Given the description of an element on the screen output the (x, y) to click on. 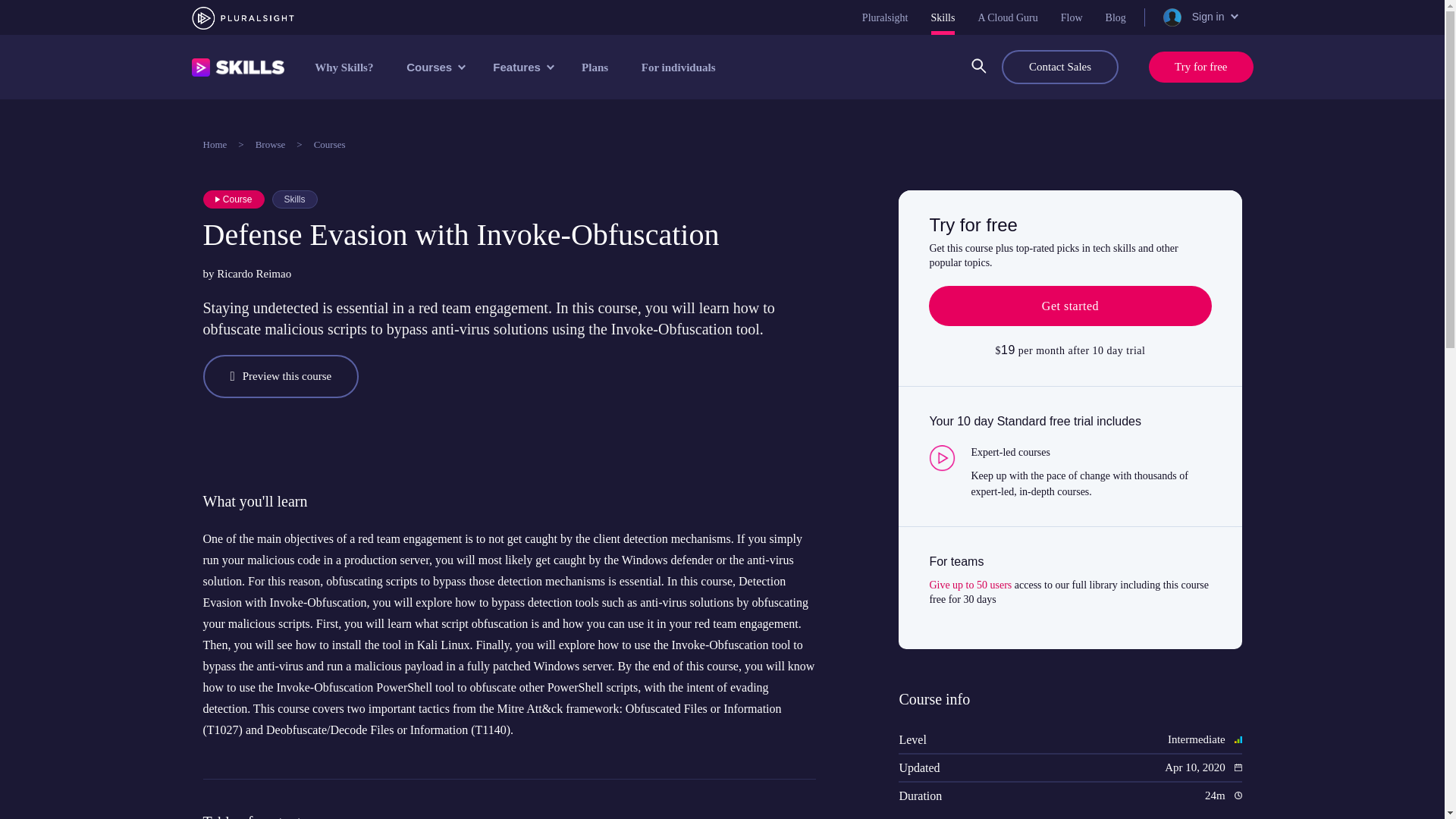
Pluralsight (884, 16)
Why Skills? (344, 66)
Blog (1115, 16)
A Cloud Guru (1006, 16)
Courses (434, 66)
Skills (943, 16)
Simple play icon (218, 198)
Start free trial now (1069, 305)
Flow (1072, 16)
Sign in (1198, 17)
